Given the description of an element on the screen output the (x, y) to click on. 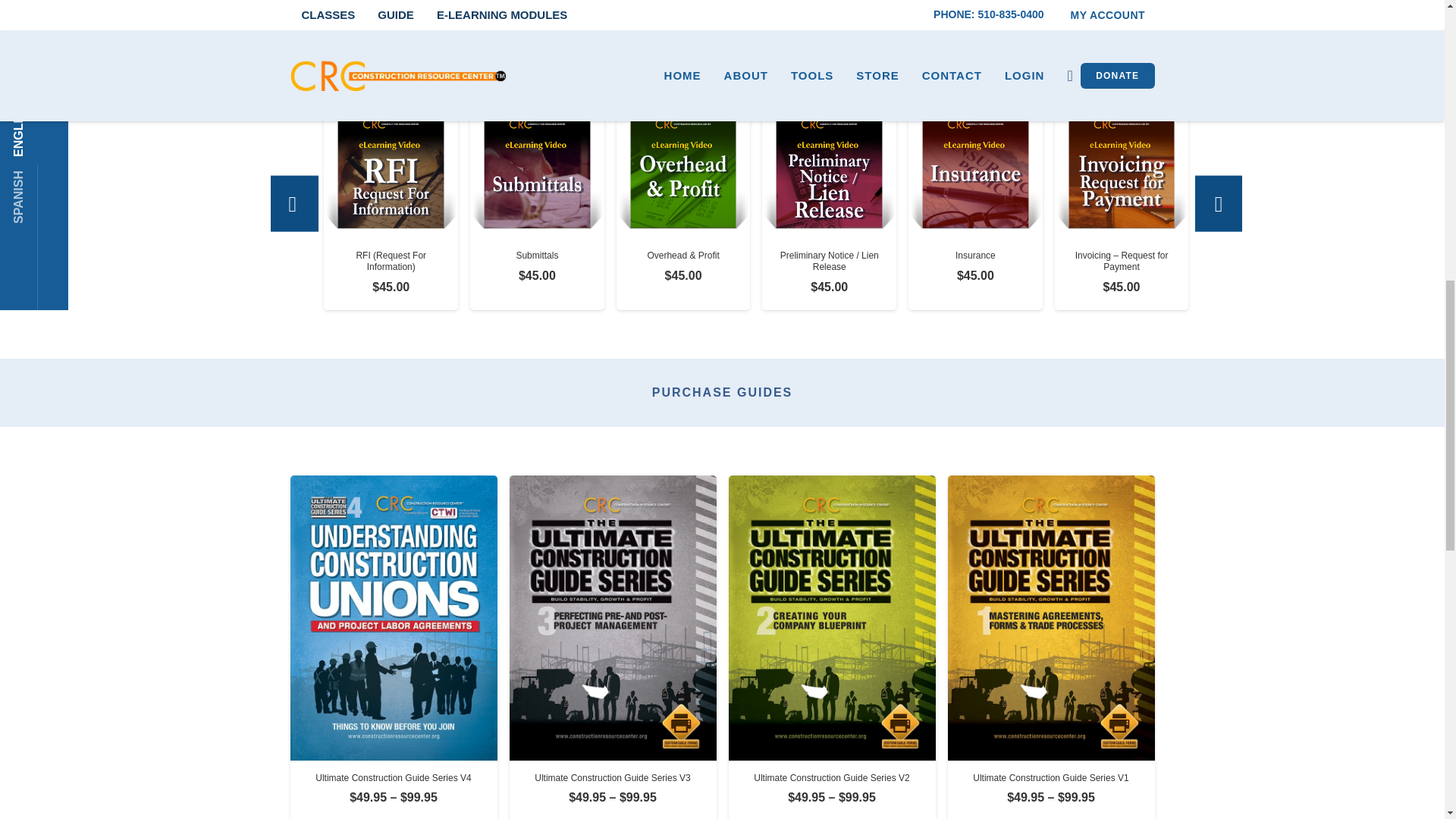
Back to top (1413, 30)
